Given the description of an element on the screen output the (x, y) to click on. 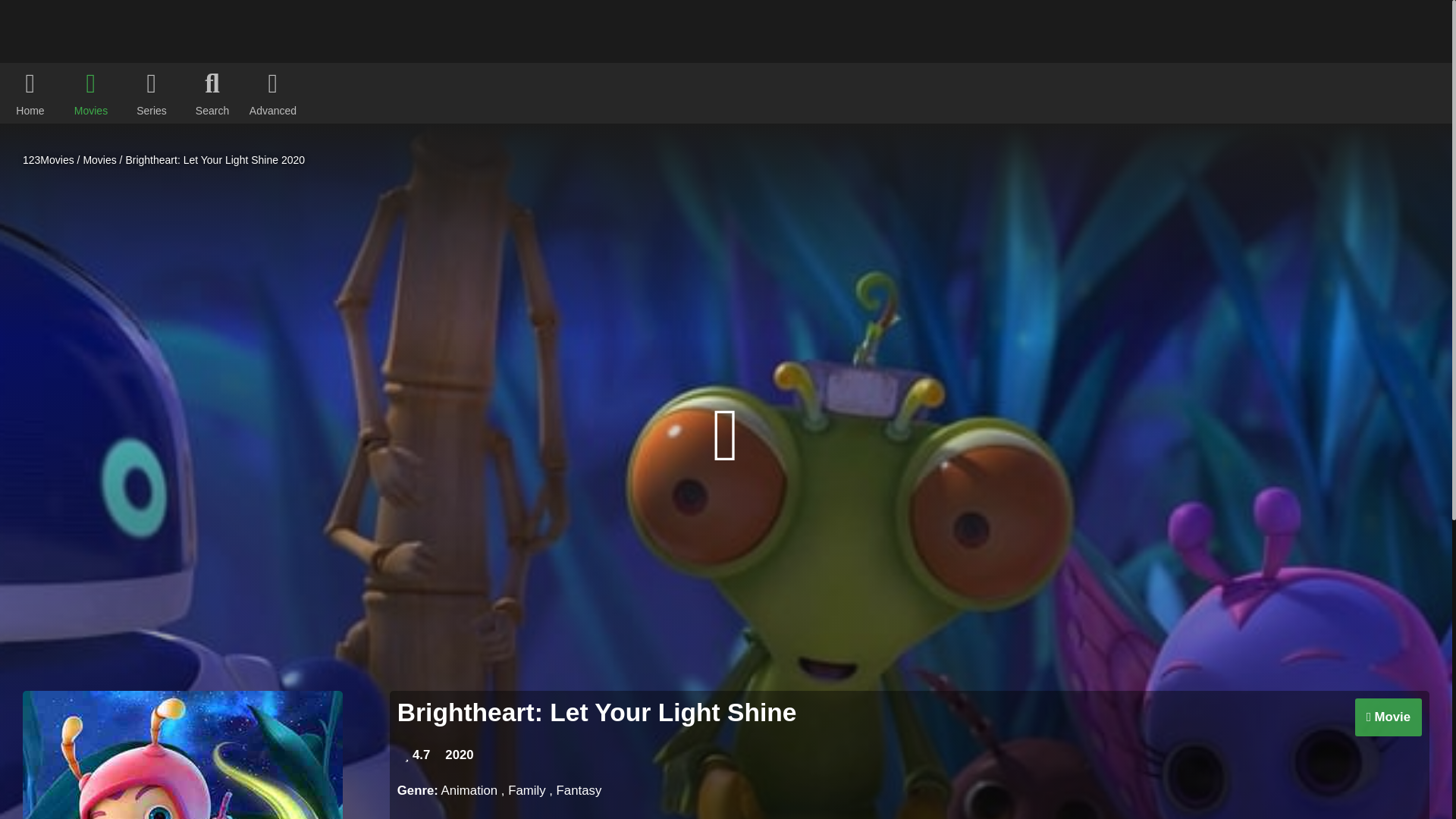
123Movies (48, 159)
Brightheart: Let Your Light Shine 2020 (214, 159)
Brightheart: Let Your Light Shine 2020 (214, 159)
Release date (459, 754)
Rating (417, 754)
123Movies (48, 159)
Movies (99, 159)
Movies (99, 159)
